Given the description of an element on the screen output the (x, y) to click on. 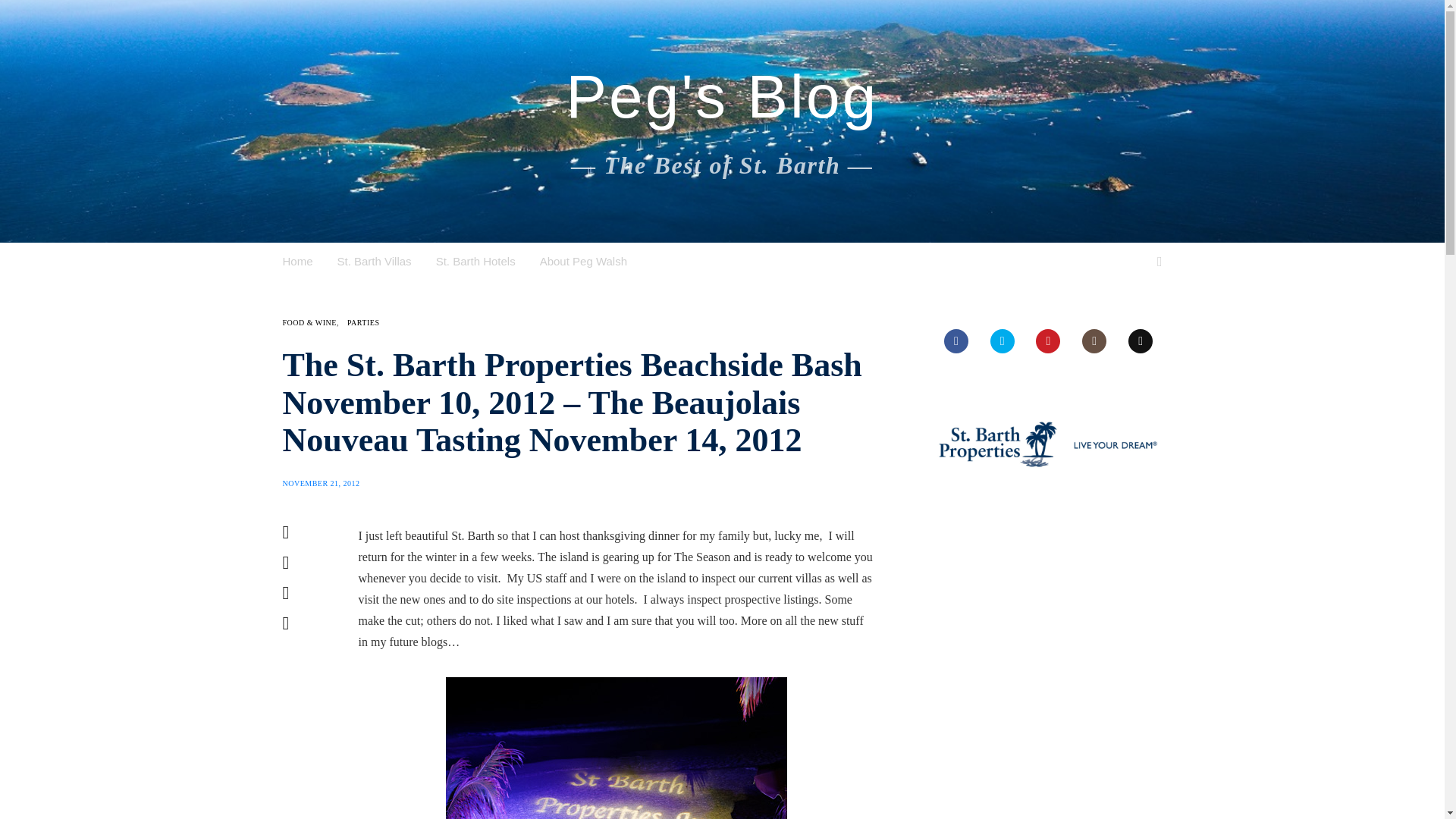
Peg's Blog (722, 96)
About Peg Walsh (583, 261)
NOVEMBER 21, 2012 (320, 483)
PARTIES (363, 322)
St. Barth Hotels (475, 261)
St. Barth Villas (374, 261)
